Given the description of an element on the screen output the (x, y) to click on. 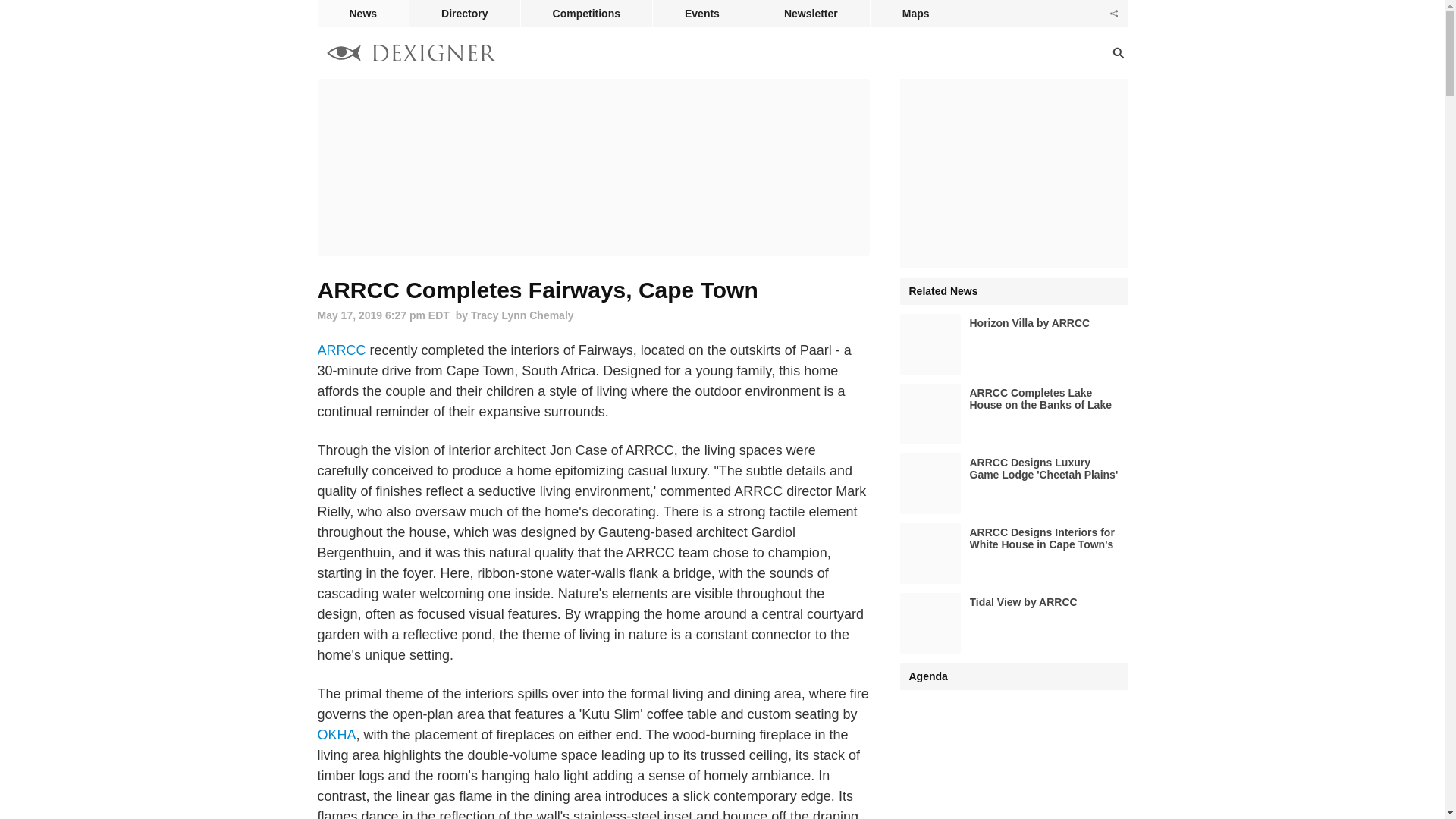
Directory (464, 13)
follow dexigner (1112, 13)
ARRCC Designs Luxury Game Lodge 'Cheetah Plains' (1012, 483)
Tidal View by ARRCC (1012, 622)
Events (701, 13)
News (363, 13)
Competitions (586, 13)
Newsletter (810, 13)
Dexigner (411, 54)
Maps (915, 13)
Horizon Villa by ARRCC (1012, 343)
ARRCC (341, 350)
OKHA (336, 734)
